Given the description of an element on the screen output the (x, y) to click on. 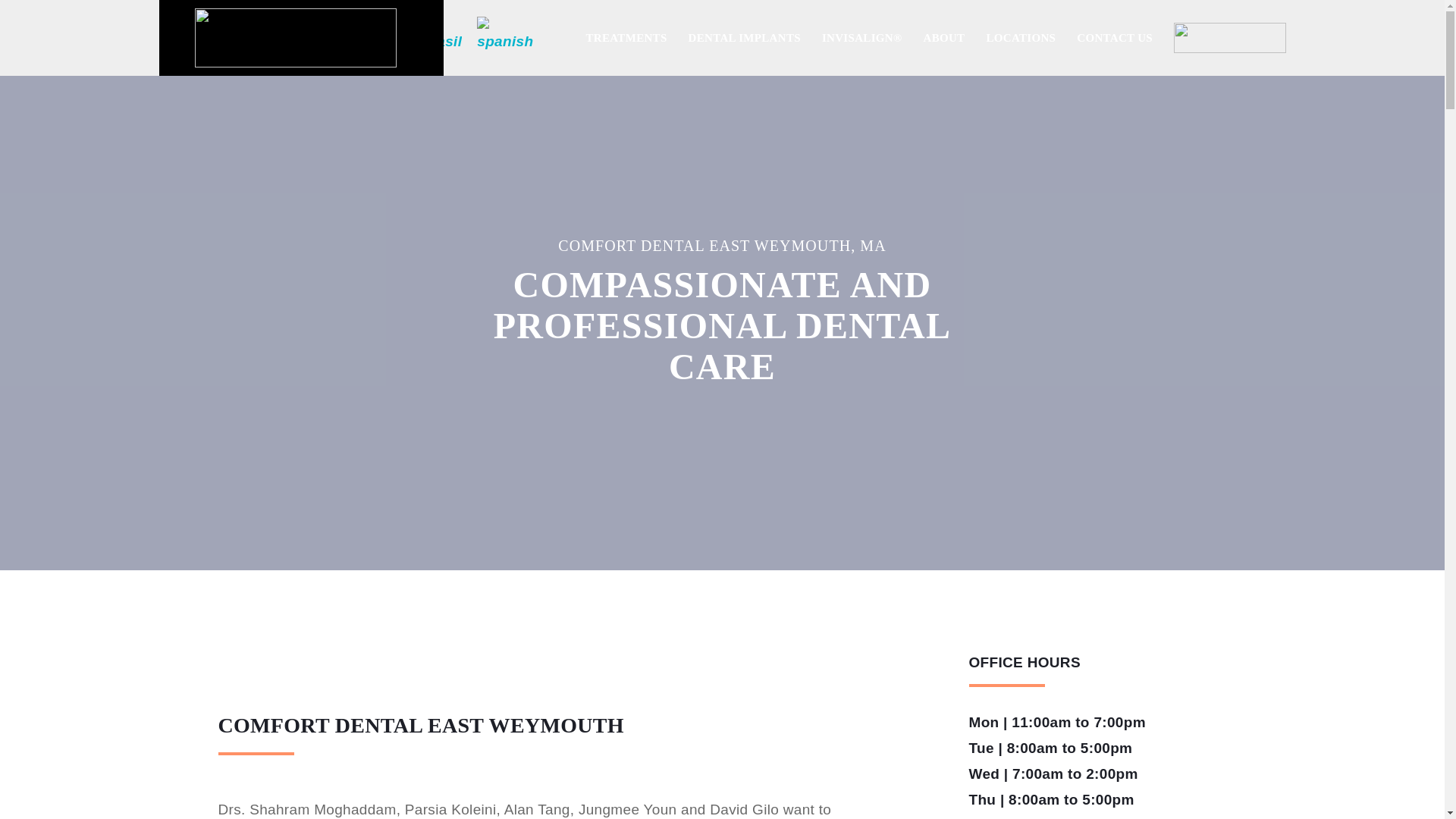
Click To Book Now (1230, 38)
TREATMENTS (626, 38)
DENTAL IMPLANTS (744, 38)
